Given the description of an element on the screen output the (x, y) to click on. 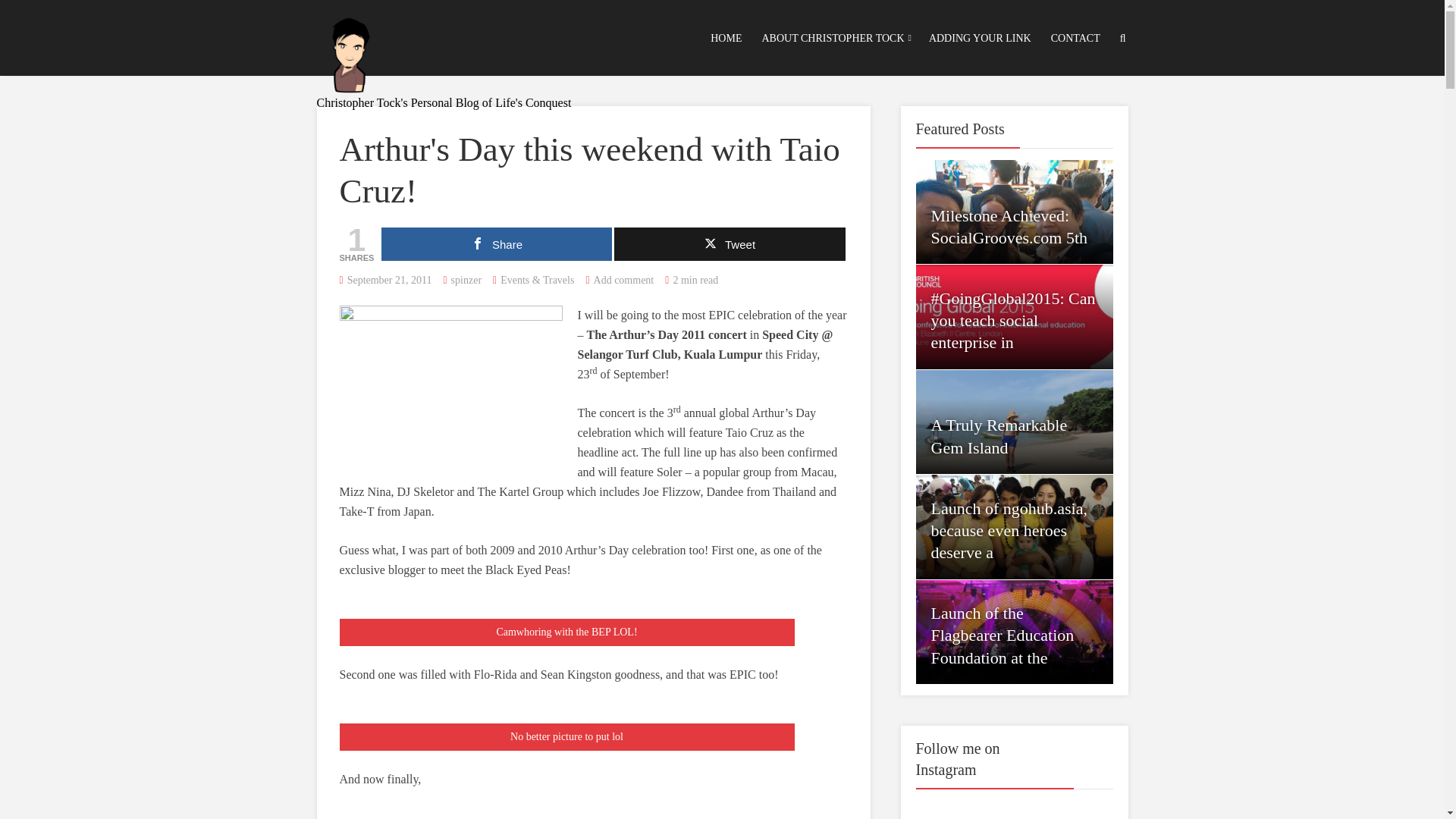
Spinzer - Blogger, Entrepreneur, Celebrity Manager (351, 51)
ABOUT CHRISTOPHER TOCK (831, 38)
Share (496, 244)
Arthursdayjpg (450, 383)
ADDING YOUR LINK (979, 38)
Add comment (623, 279)
Tweet (729, 244)
spinzer (466, 279)
